Given the description of an element on the screen output the (x, y) to click on. 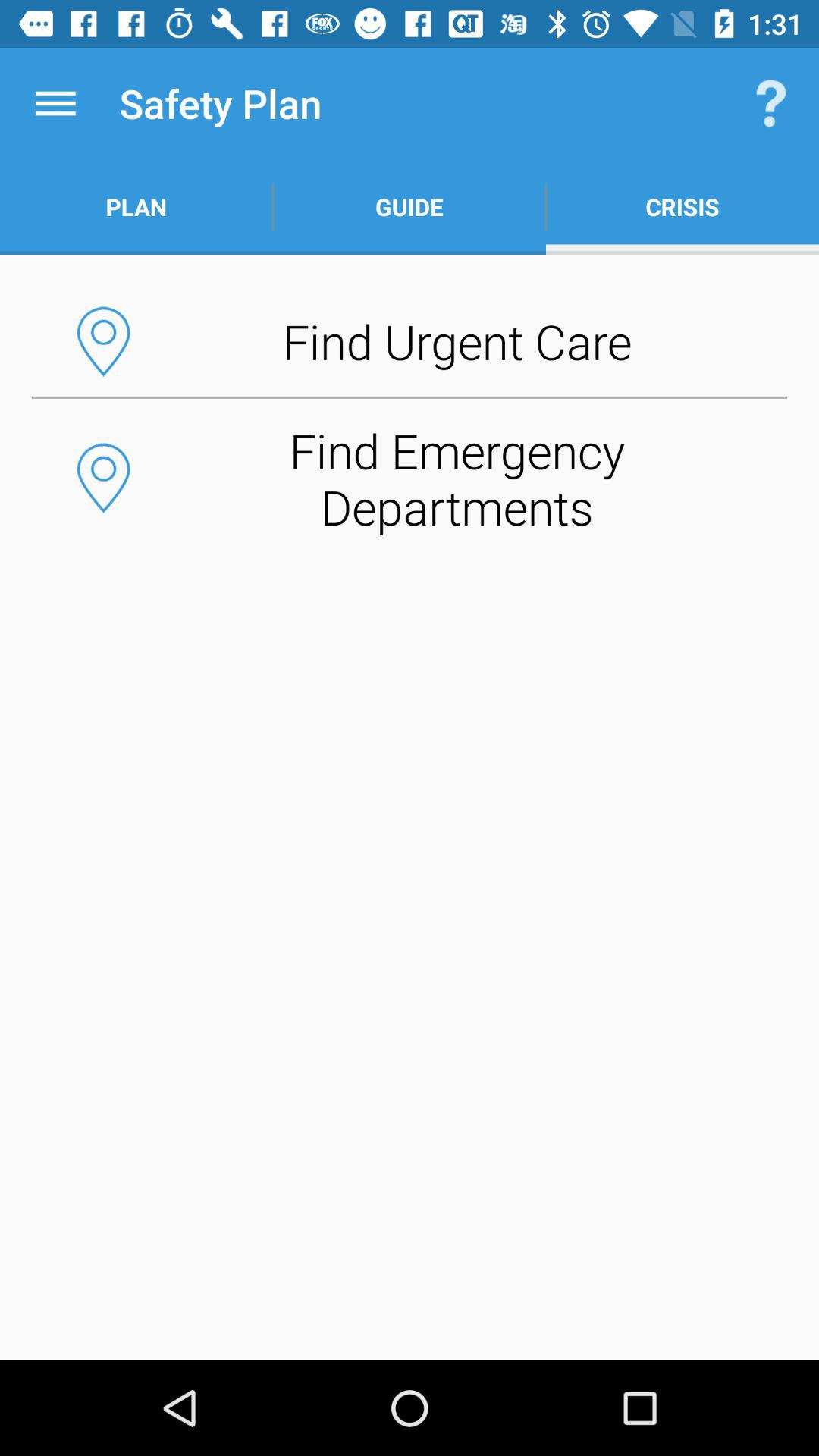
turn on the icon below the safety plan item (409, 206)
